Given the description of an element on the screen output the (x, y) to click on. 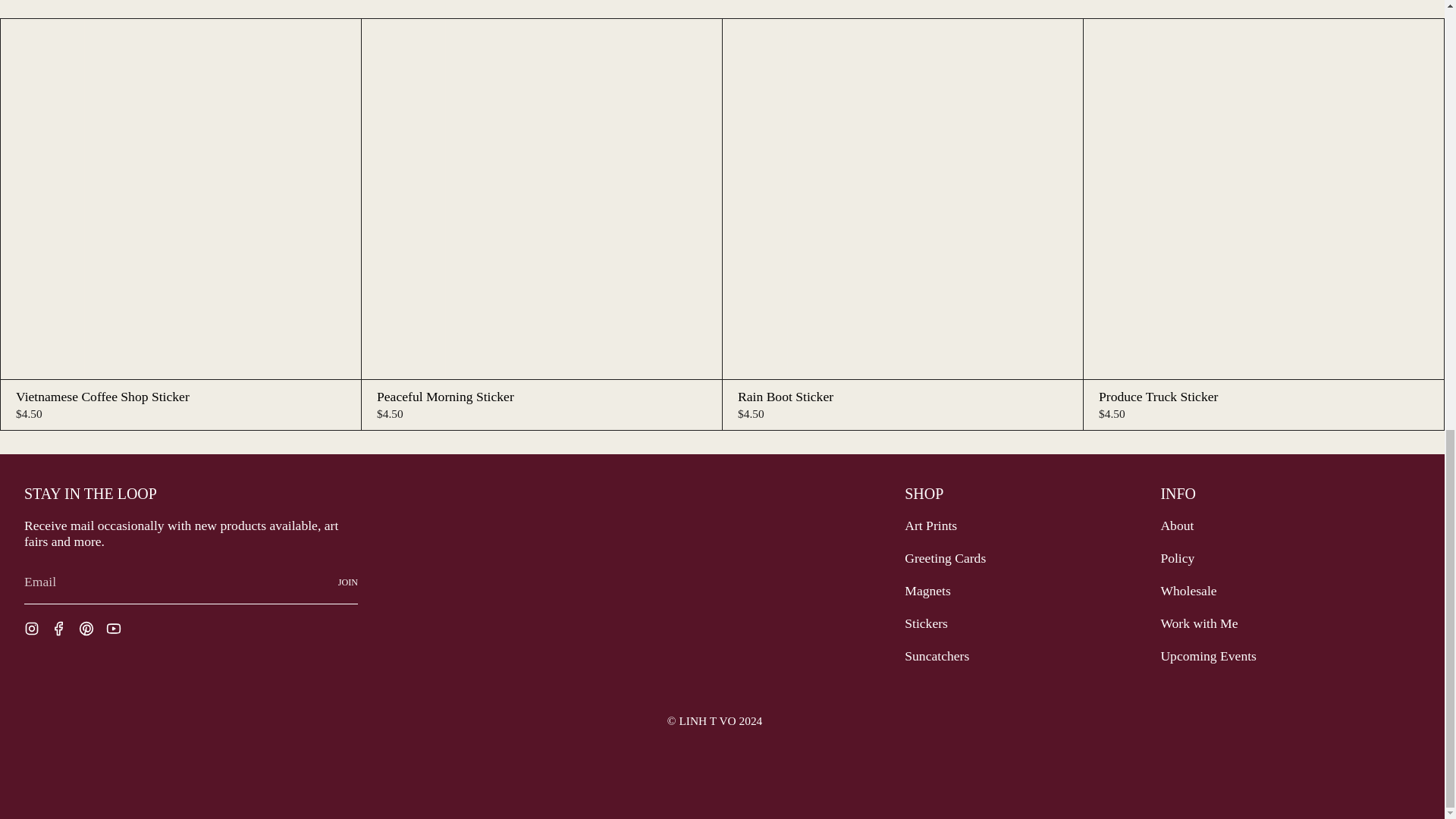
LINH T VO on YouTube (113, 626)
LINH T VO on Instagram (31, 626)
LINH T VO on Pinterest (86, 626)
LINH T VO on Facebook (58, 626)
